Given the description of an element on the screen output the (x, y) to click on. 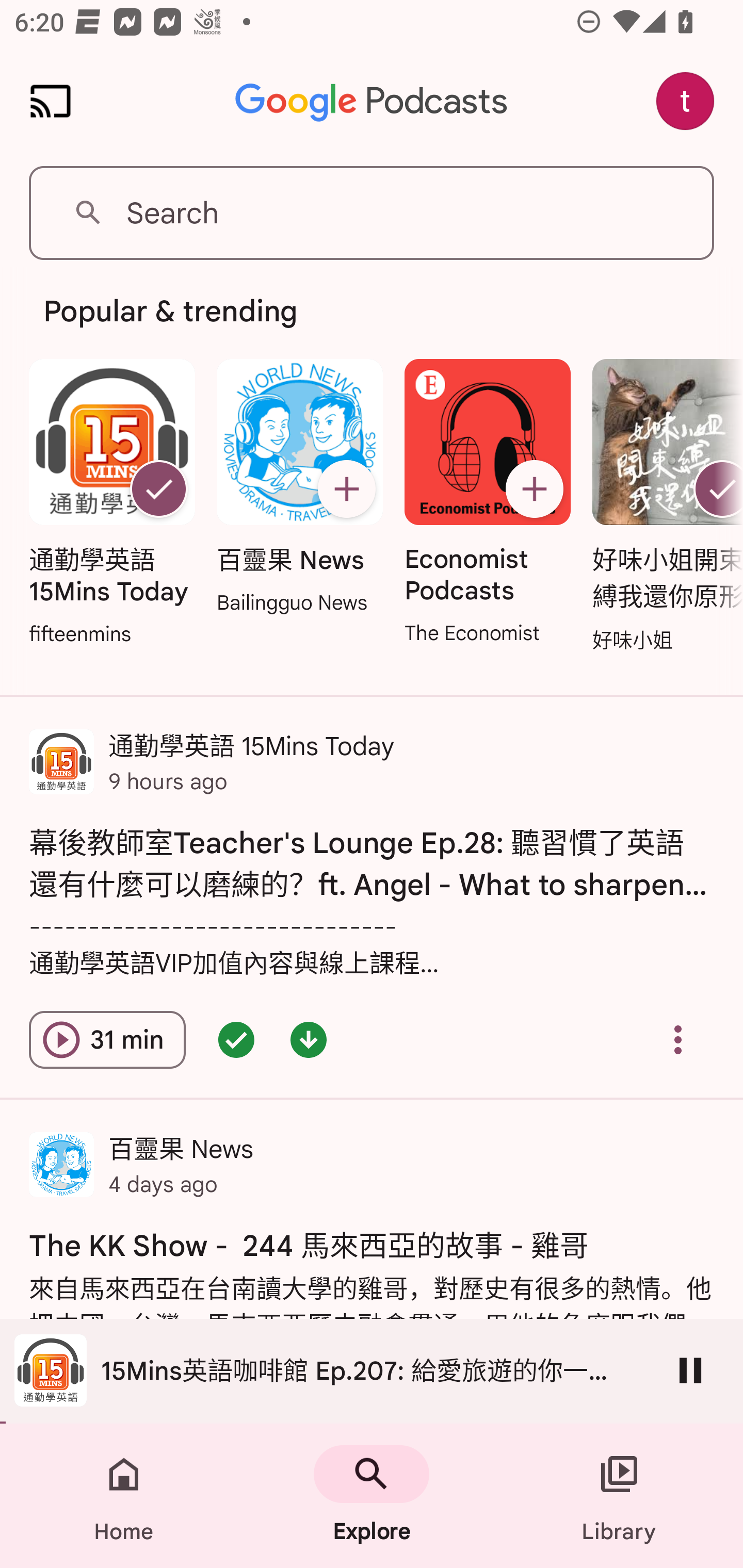
Cast. Disconnected (50, 101)
Search (371, 212)
百靈果 News Subscribe 百靈果 News Bailingguo News (299, 488)
好味小姐開束縛我還你原形 Unsubscribe 好味小姐開束縛我還你原形 好味小姐 (662, 507)
Unsubscribe (158, 489)
Subscribe (346, 489)
Subscribe (534, 489)
Unsubscribe (714, 489)
Episode queued - double tap for options (235, 1040)
Episode downloaded - double tap for options (308, 1040)
Overflow menu (677, 1040)
Pause (690, 1370)
Home (123, 1495)
Library (619, 1495)
